Given the description of an element on the screen output the (x, y) to click on. 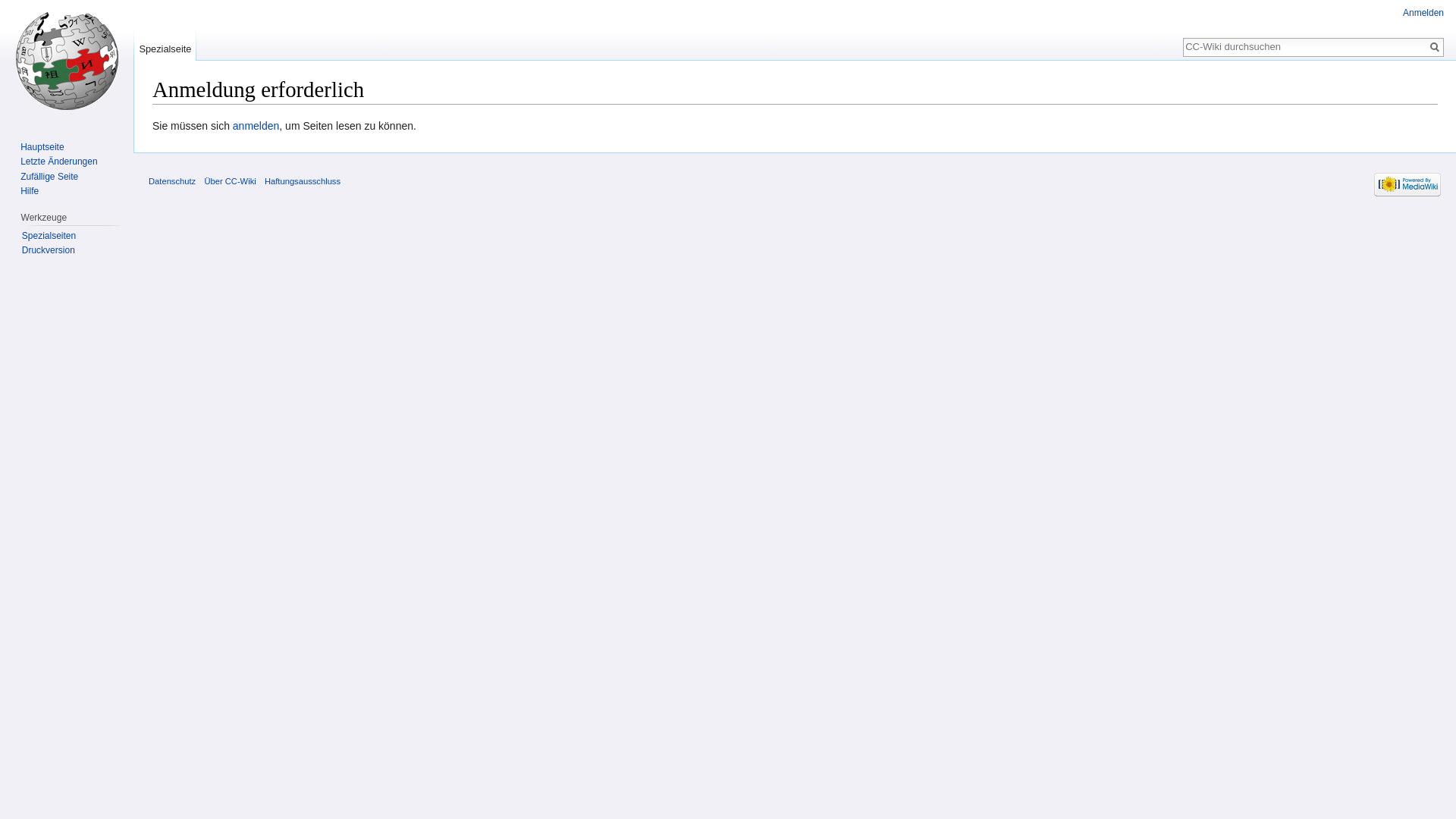
anmelden Element type: text (255, 125)
Druckversion Element type: text (48, 249)
Spezialseite Element type: text (165, 45)
Seite Element type: text (1434, 46)
Haftungsausschluss Element type: text (302, 180)
CC-Wiki durchsuchen [alt-shift-f] Element type: hover (1304, 45)
Spezialseiten Element type: text (48, 235)
Datenschutz Element type: text (171, 180)
Hauptseite Element type: text (41, 146)
Hilfe Element type: text (29, 190)
Hauptseite Element type: hover (66, 60)
Anmelden Element type: text (1422, 12)
